Given the description of an element on the screen output the (x, y) to click on. 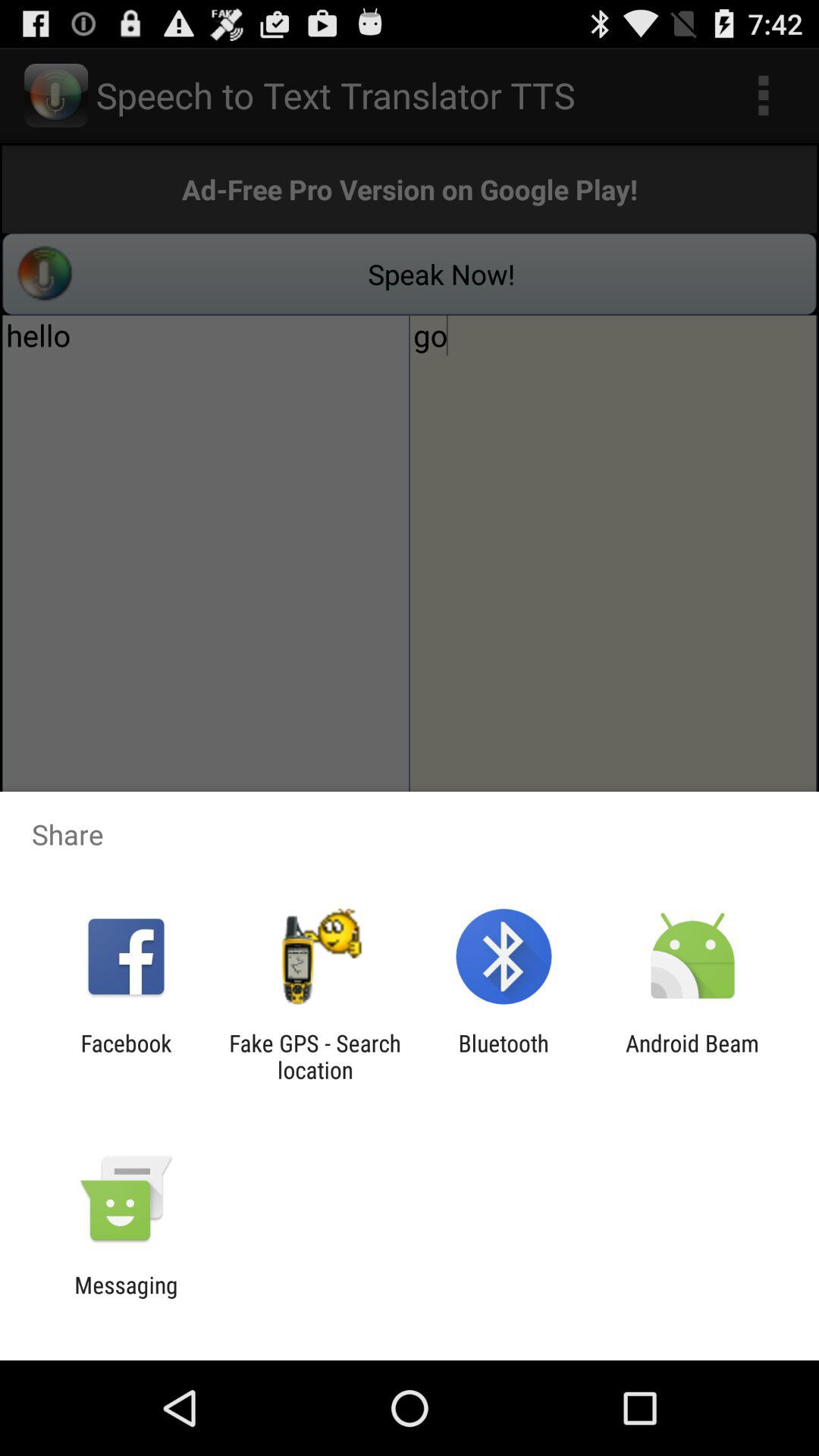
jump to the fake gps search app (314, 1056)
